Given the description of an element on the screen output the (x, y) to click on. 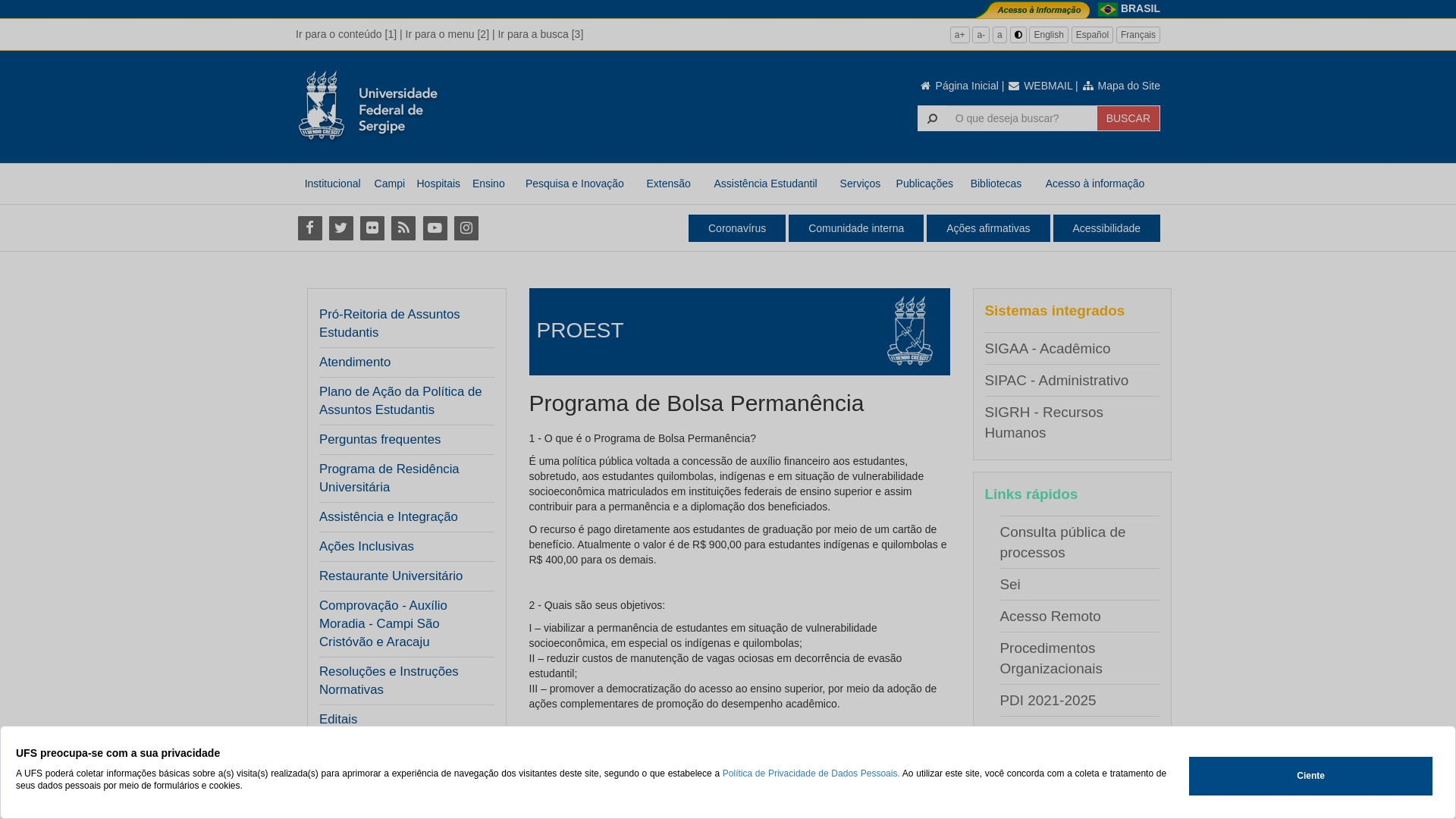
Procedimentos Organizacionais Element type: text (1050, 658)
BUSCAR Element type: text (1128, 118)
Acesso Remoto Element type: text (1049, 616)
English Element type: text (1048, 34)
Institucional Element type: text (332, 183)
Ir para a busca [3] Element type: text (540, 34)
Agenda do Reitor Element type: text (1054, 732)
Atendimento Element type: text (354, 362)
SIGRH - Recursos Humanos Element type: text (1043, 422)
Perguntas frequentes Element type: text (379, 439)
Bibliotecas Element type: text (995, 183)
Agenda do Vice-Reitor Element type: text (1071, 763)
RSS Element type: text (403, 227)
Comunidade interna Element type: text (855, 227)
Flickr Element type: text (371, 227)
Mapa do Site Element type: text (1120, 85)
SIPAC - Administrativo Element type: text (1056, 380)
Facebook Element type: text (309, 227)
Campi Element type: text (389, 183)
BRASIL Element type: text (1140, 8)
Ensino Element type: text (488, 183)
Acessibilidade Element type: text (1106, 227)
PDI 2021-2025 Element type: text (1047, 700)
Youtube Element type: text (434, 227)
a Element type: text (999, 34)
WEBMAIL Element type: text (1039, 85)
Resultados Element type: text (350, 778)
Hospitais Element type: text (438, 183)
Ir para o menu [2] Element type: text (447, 34)
Telefones Element type: text (1029, 795)
a+ Element type: text (959, 34)
Editais Element type: text (338, 719)
Sei Element type: text (1009, 584)
Twitter Element type: text (340, 227)
Instagram Element type: text (465, 227)
a- Element type: text (980, 34)
